Given the description of an element on the screen output the (x, y) to click on. 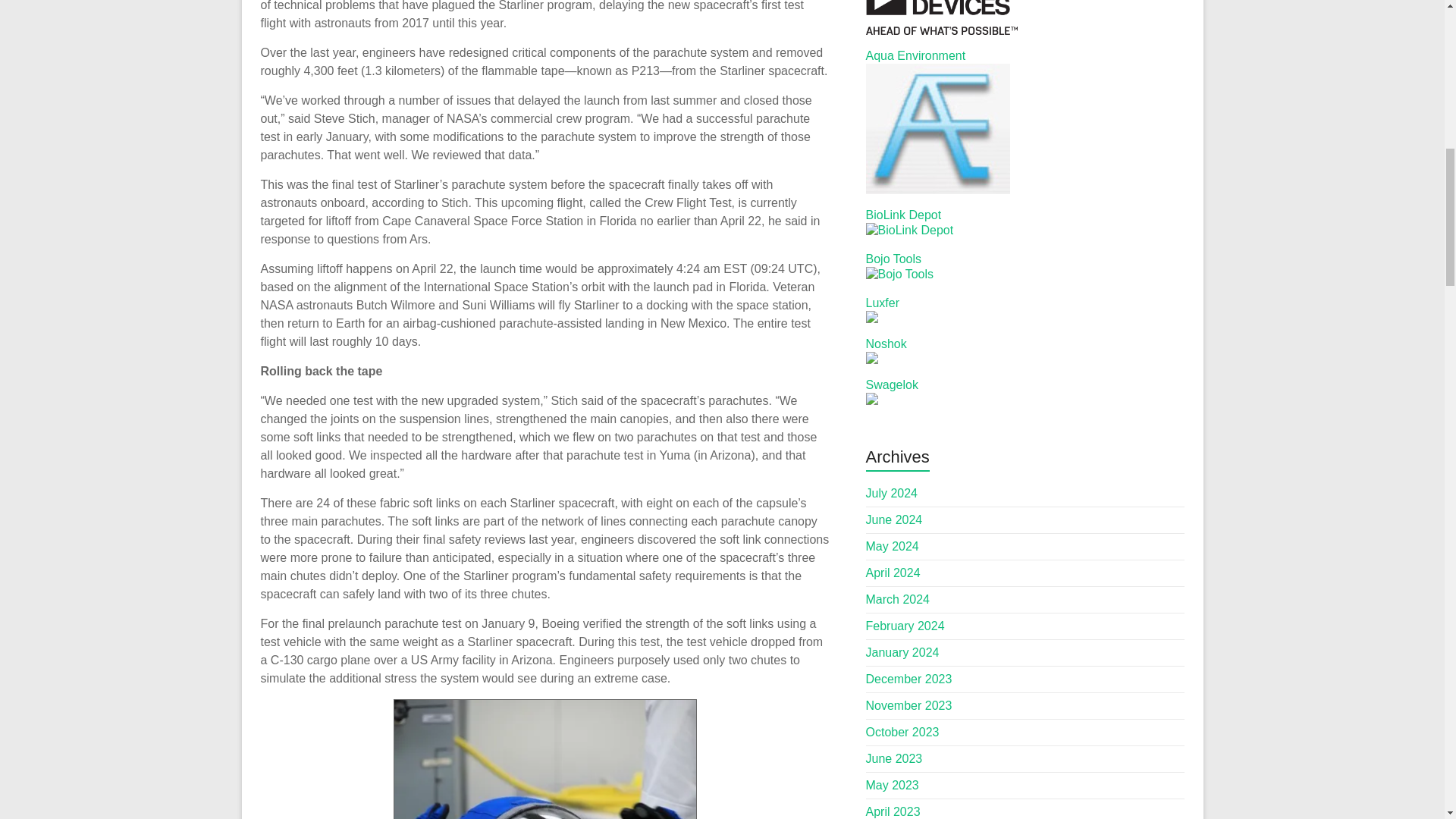
Bojo Tools (893, 258)
Noshok (886, 343)
BioLink Depot (904, 214)
Aqua Environment (916, 55)
Luxfer (882, 302)
